Given the description of an element on the screen output the (x, y) to click on. 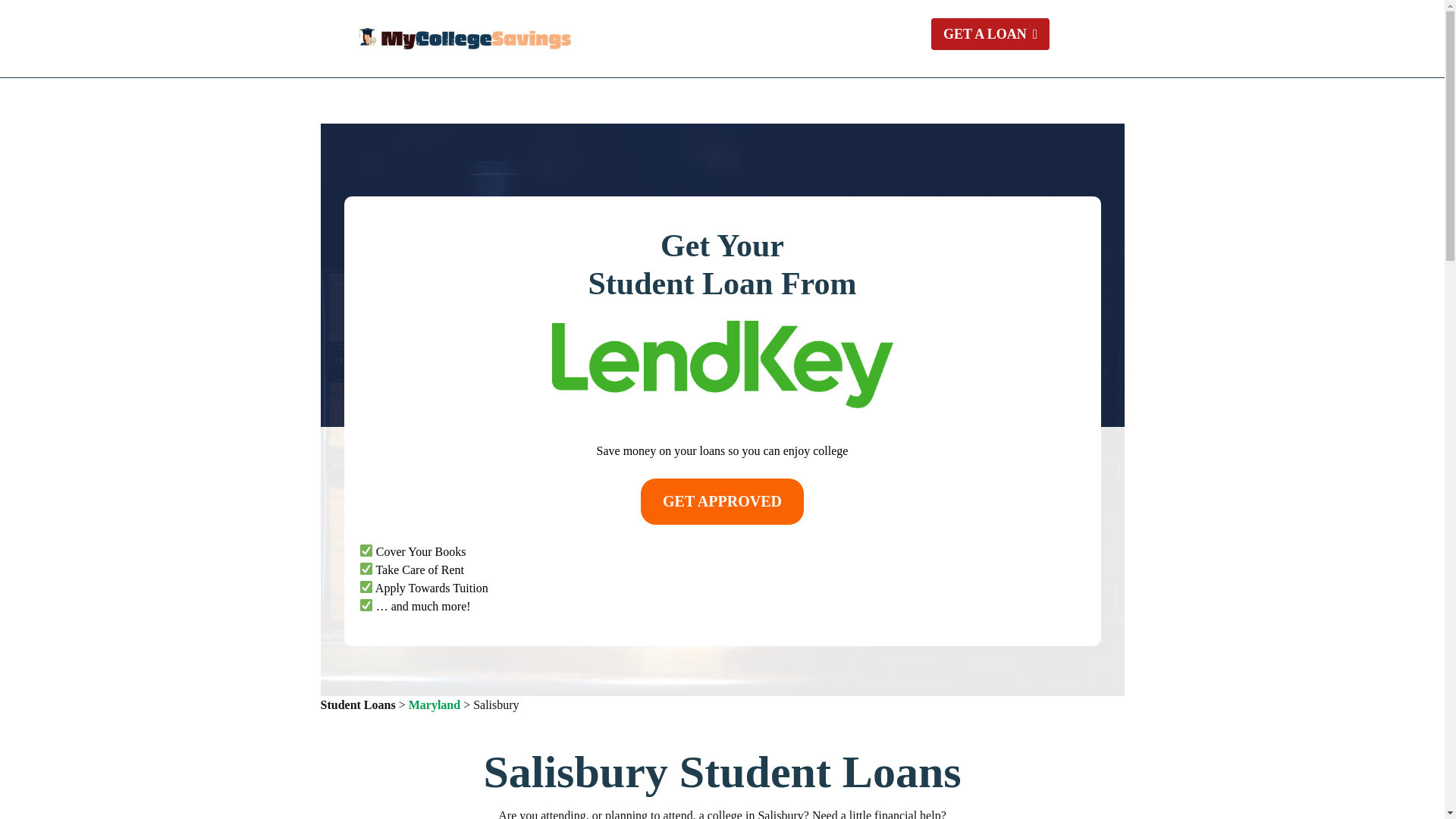
GET APPROVED (721, 501)
GET A LOAN (990, 33)
Maryland (434, 704)
